Given the description of an element on the screen output the (x, y) to click on. 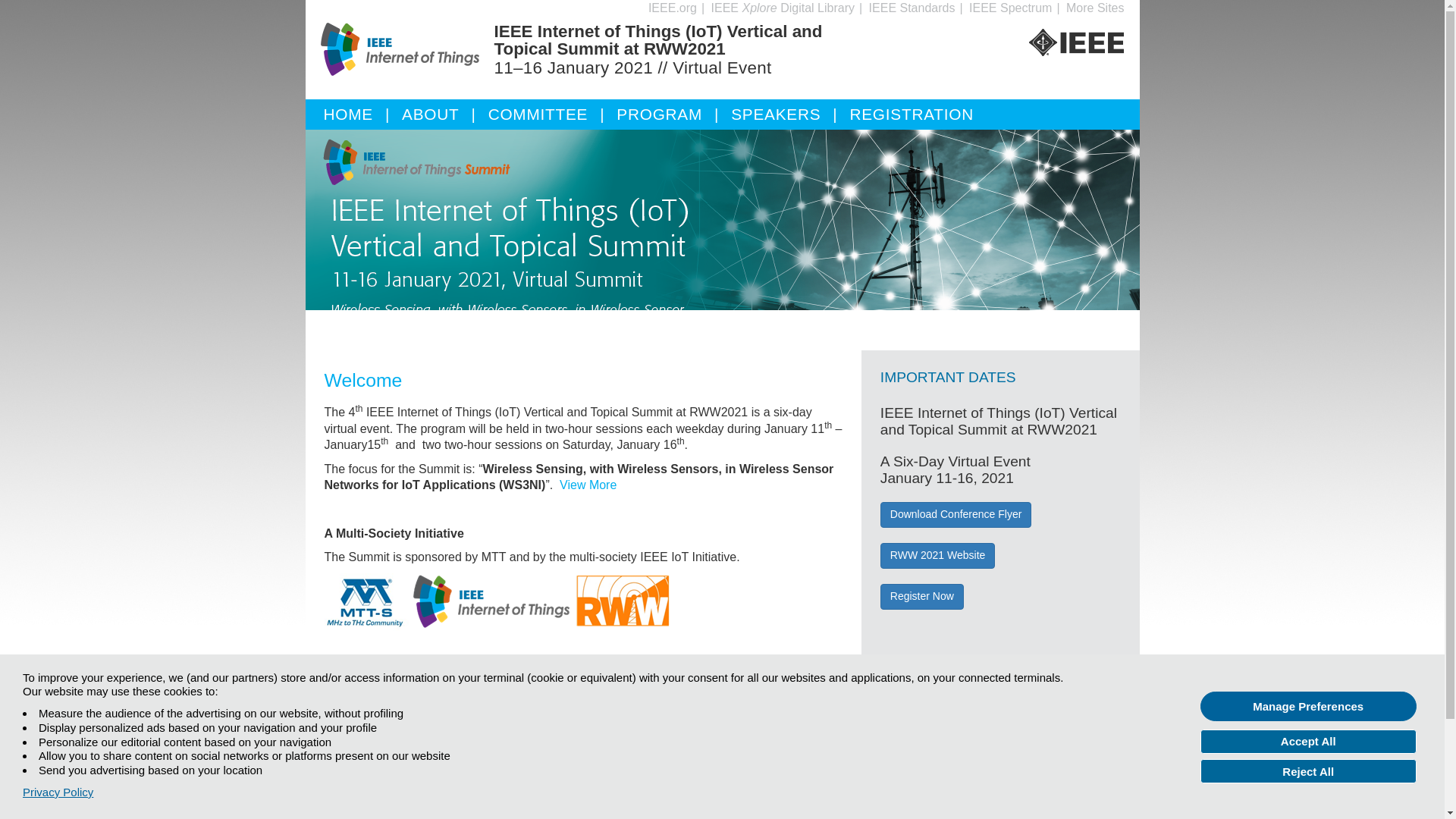
Speakers (789, 109)
Home (362, 109)
ABOUT (444, 109)
IEEE Standards (912, 7)
2 (734, 362)
IEEE Spectrum (1010, 7)
Accept All (1307, 741)
PROGRAM (672, 109)
RWW 2021 Website (937, 555)
About (444, 109)
